Given the description of an element on the screen output the (x, y) to click on. 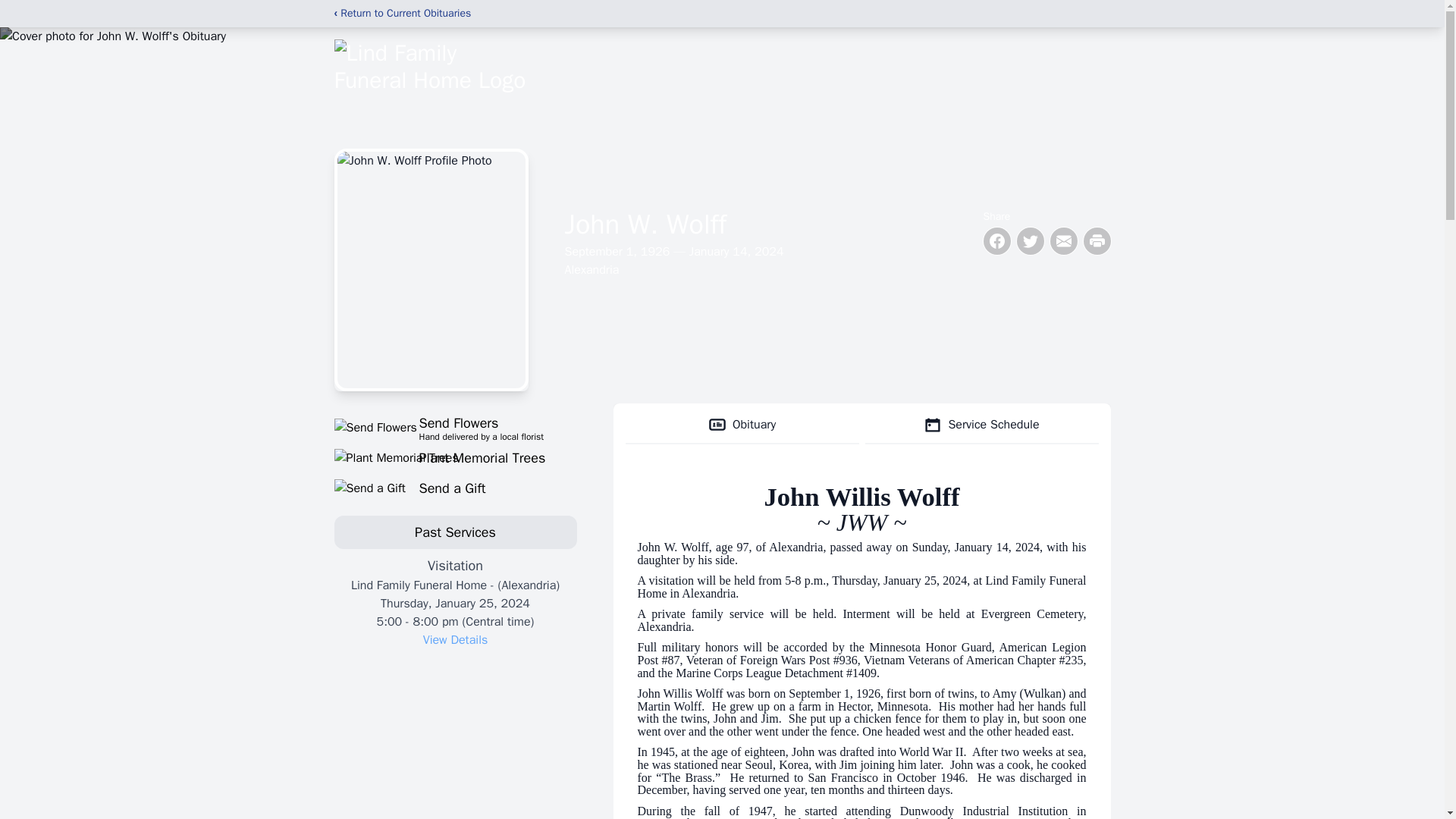
Obituary (741, 425)
View Details (455, 639)
Send a Gift (454, 488)
Service Schedule (980, 425)
Plant Memorial Trees (454, 427)
